Given the description of an element on the screen output the (x, y) to click on. 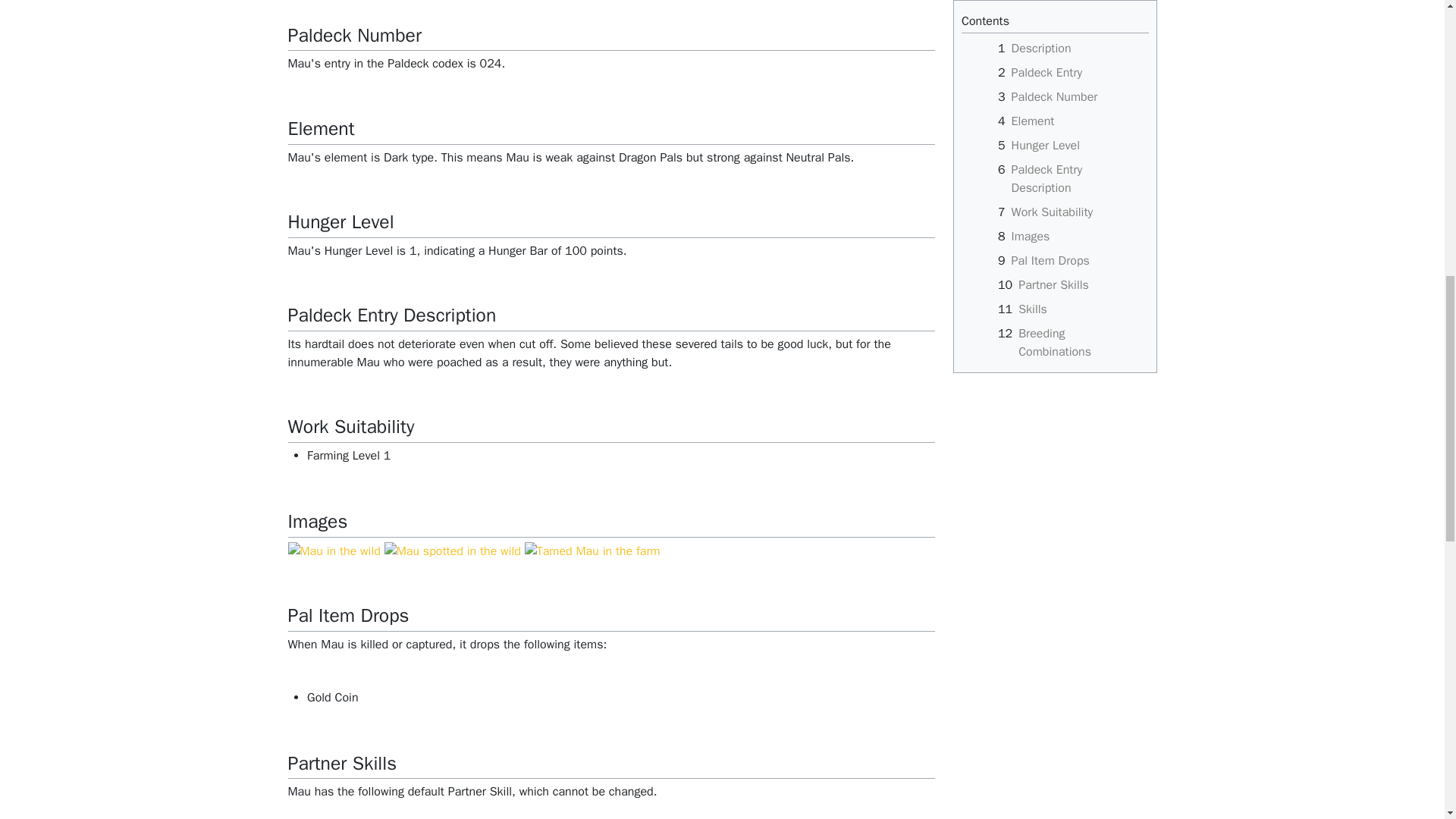
Mau in the wild (334, 549)
Tamed Mau in the farm (592, 549)
Mau spotted in the wild (452, 549)
